Given the description of an element on the screen output the (x, y) to click on. 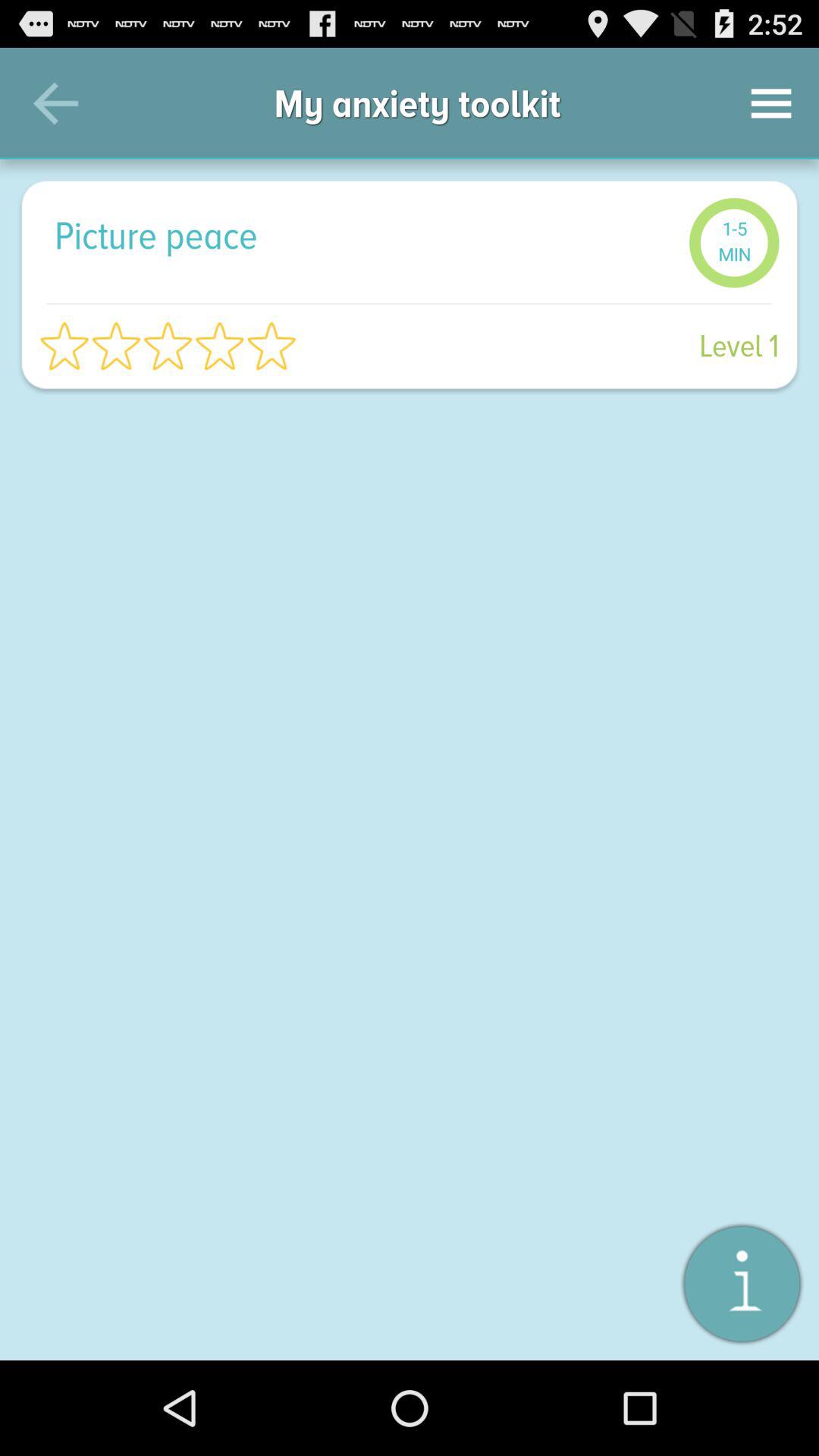
launch the item to the right of the my anxiety toolkit icon (771, 103)
